Given the description of an element on the screen output the (x, y) to click on. 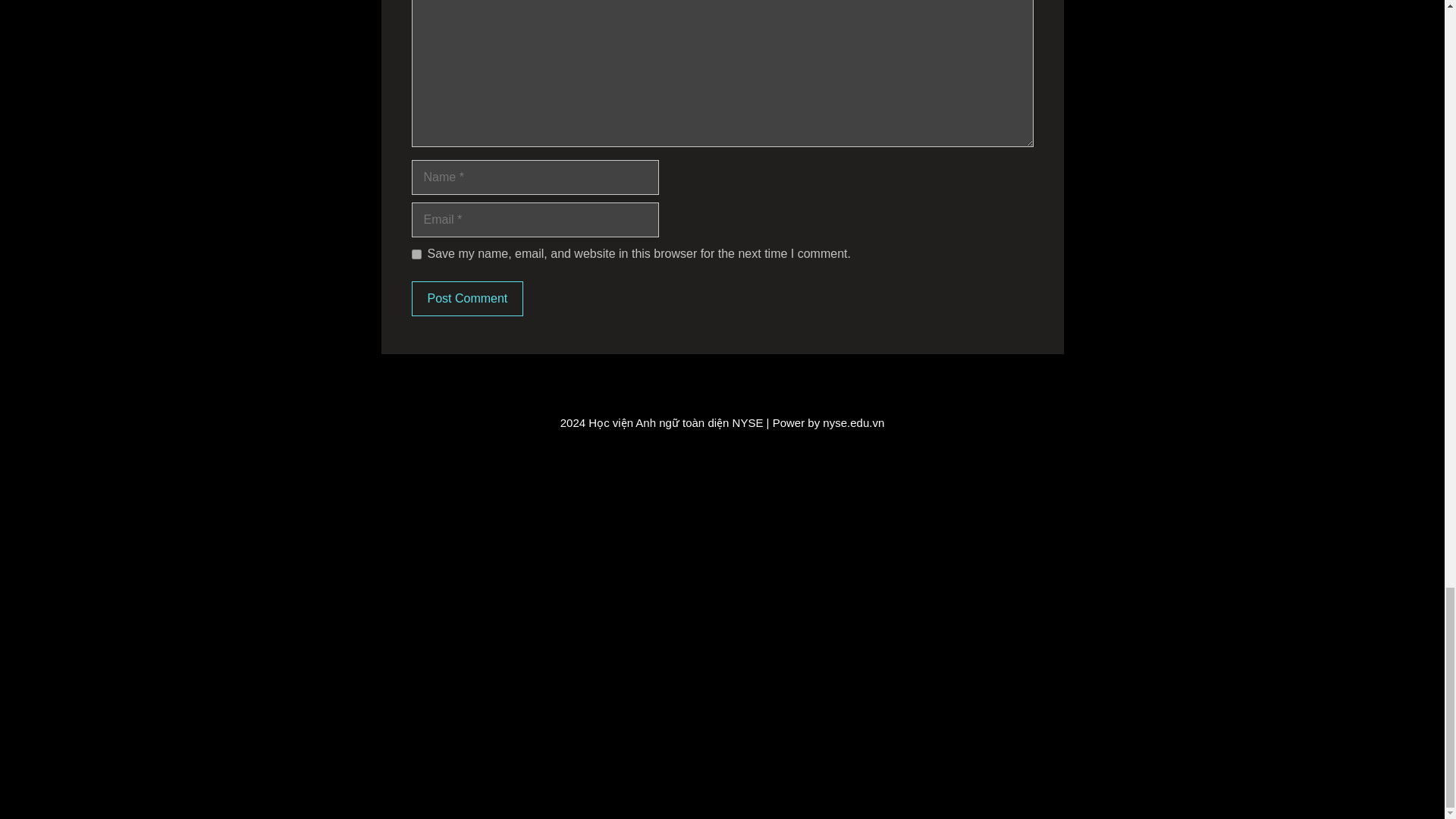
Post Comment (466, 298)
Post Comment (466, 298)
nyse.edu.vn (852, 422)
yes (415, 254)
